Given the description of an element on the screen output the (x, y) to click on. 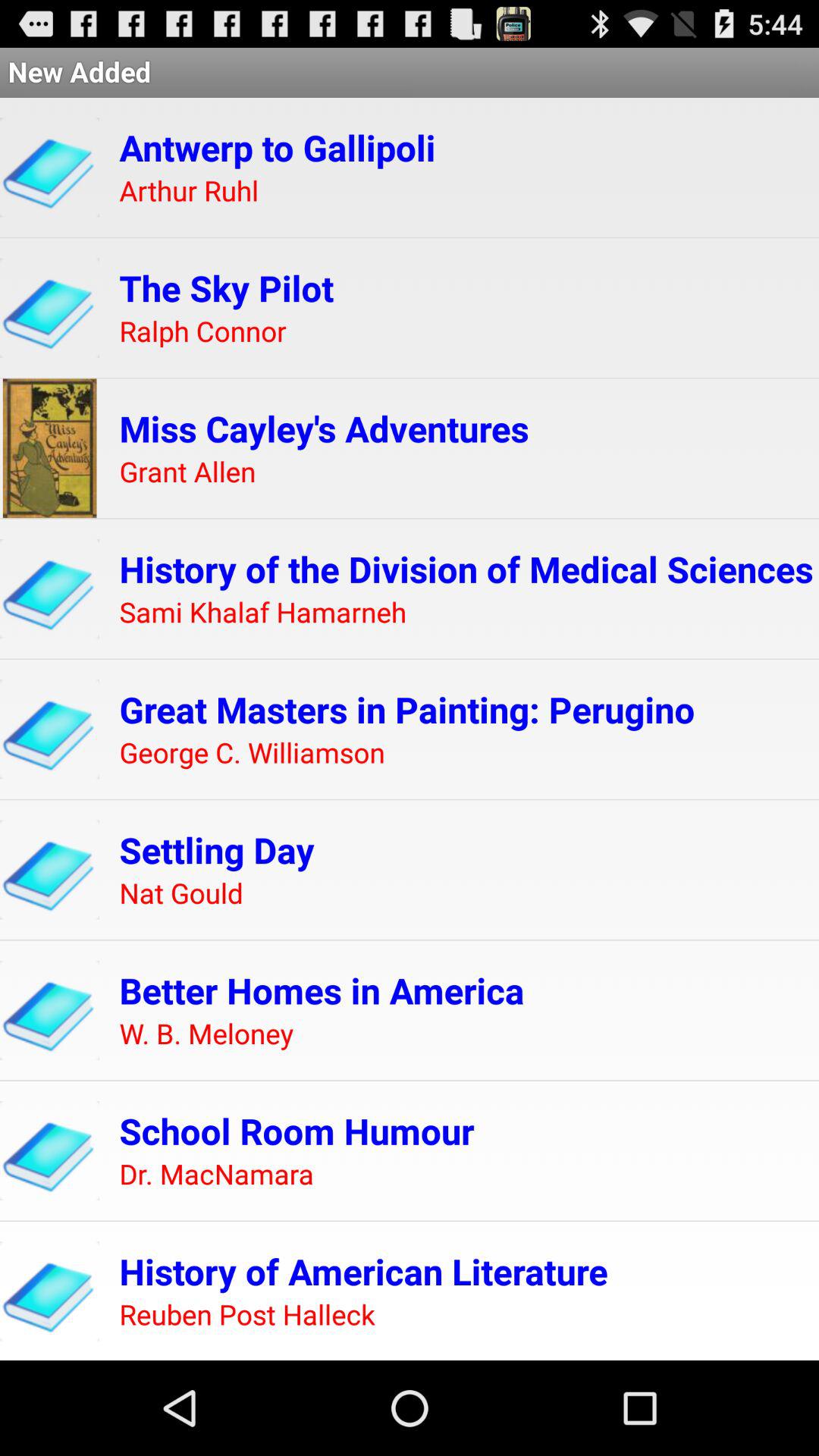
open w. b. meloney item (206, 1034)
